Given the description of an element on the screen output the (x, y) to click on. 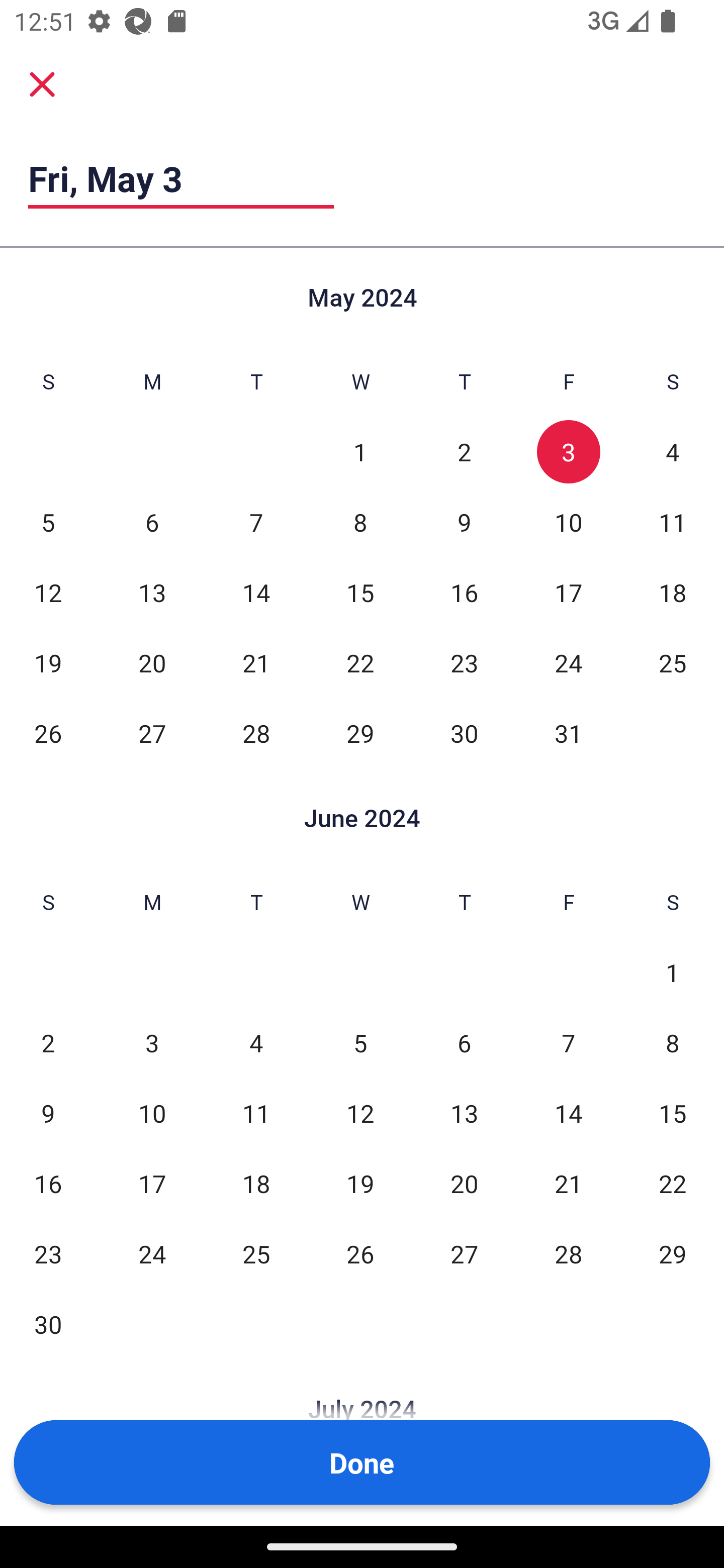
Cancel (42, 84)
Fri, May 3 (180, 178)
1 Wed, May 1, Not Selected (360, 452)
2 Thu, May 2, Not Selected (464, 452)
3 Fri, May 3, Selected (568, 452)
4 Sat, May 4, Not Selected (672, 452)
5 Sun, May 5, Not Selected (48, 521)
6 Mon, May 6, Not Selected (152, 521)
7 Tue, May 7, Not Selected (256, 521)
8 Wed, May 8, Not Selected (360, 521)
9 Thu, May 9, Not Selected (464, 521)
10 Fri, May 10, Not Selected (568, 521)
11 Sat, May 11, Not Selected (672, 521)
12 Sun, May 12, Not Selected (48, 591)
13 Mon, May 13, Not Selected (152, 591)
14 Tue, May 14, Not Selected (256, 591)
15 Wed, May 15, Not Selected (360, 591)
16 Thu, May 16, Not Selected (464, 591)
17 Fri, May 17, Not Selected (568, 591)
18 Sat, May 18, Not Selected (672, 591)
19 Sun, May 19, Not Selected (48, 662)
20 Mon, May 20, Not Selected (152, 662)
21 Tue, May 21, Not Selected (256, 662)
22 Wed, May 22, Not Selected (360, 662)
23 Thu, May 23, Not Selected (464, 662)
24 Fri, May 24, Not Selected (568, 662)
25 Sat, May 25, Not Selected (672, 662)
26 Sun, May 26, Not Selected (48, 732)
27 Mon, May 27, Not Selected (152, 732)
28 Tue, May 28, Not Selected (256, 732)
29 Wed, May 29, Not Selected (360, 732)
30 Thu, May 30, Not Selected (464, 732)
31 Fri, May 31, Not Selected (568, 732)
1 Sat, Jun 1, Not Selected (672, 972)
2 Sun, Jun 2, Not Selected (48, 1043)
3 Mon, Jun 3, Not Selected (152, 1043)
4 Tue, Jun 4, Not Selected (256, 1043)
5 Wed, Jun 5, Not Selected (360, 1043)
6 Thu, Jun 6, Not Selected (464, 1043)
7 Fri, Jun 7, Not Selected (568, 1043)
8 Sat, Jun 8, Not Selected (672, 1043)
9 Sun, Jun 9, Not Selected (48, 1112)
10 Mon, Jun 10, Not Selected (152, 1112)
11 Tue, Jun 11, Not Selected (256, 1112)
12 Wed, Jun 12, Not Selected (360, 1112)
13 Thu, Jun 13, Not Selected (464, 1112)
14 Fri, Jun 14, Not Selected (568, 1112)
15 Sat, Jun 15, Not Selected (672, 1112)
16 Sun, Jun 16, Not Selected (48, 1182)
17 Mon, Jun 17, Not Selected (152, 1182)
18 Tue, Jun 18, Not Selected (256, 1182)
19 Wed, Jun 19, Not Selected (360, 1182)
20 Thu, Jun 20, Not Selected (464, 1182)
21 Fri, Jun 21, Not Selected (568, 1182)
22 Sat, Jun 22, Not Selected (672, 1182)
23 Sun, Jun 23, Not Selected (48, 1253)
24 Mon, Jun 24, Not Selected (152, 1253)
25 Tue, Jun 25, Not Selected (256, 1253)
26 Wed, Jun 26, Not Selected (360, 1253)
27 Thu, Jun 27, Not Selected (464, 1253)
28 Fri, Jun 28, Not Selected (568, 1253)
29 Sat, Jun 29, Not Selected (672, 1253)
30 Sun, Jun 30, Not Selected (48, 1323)
Done Button Done (361, 1462)
